Given the description of an element on the screen output the (x, y) to click on. 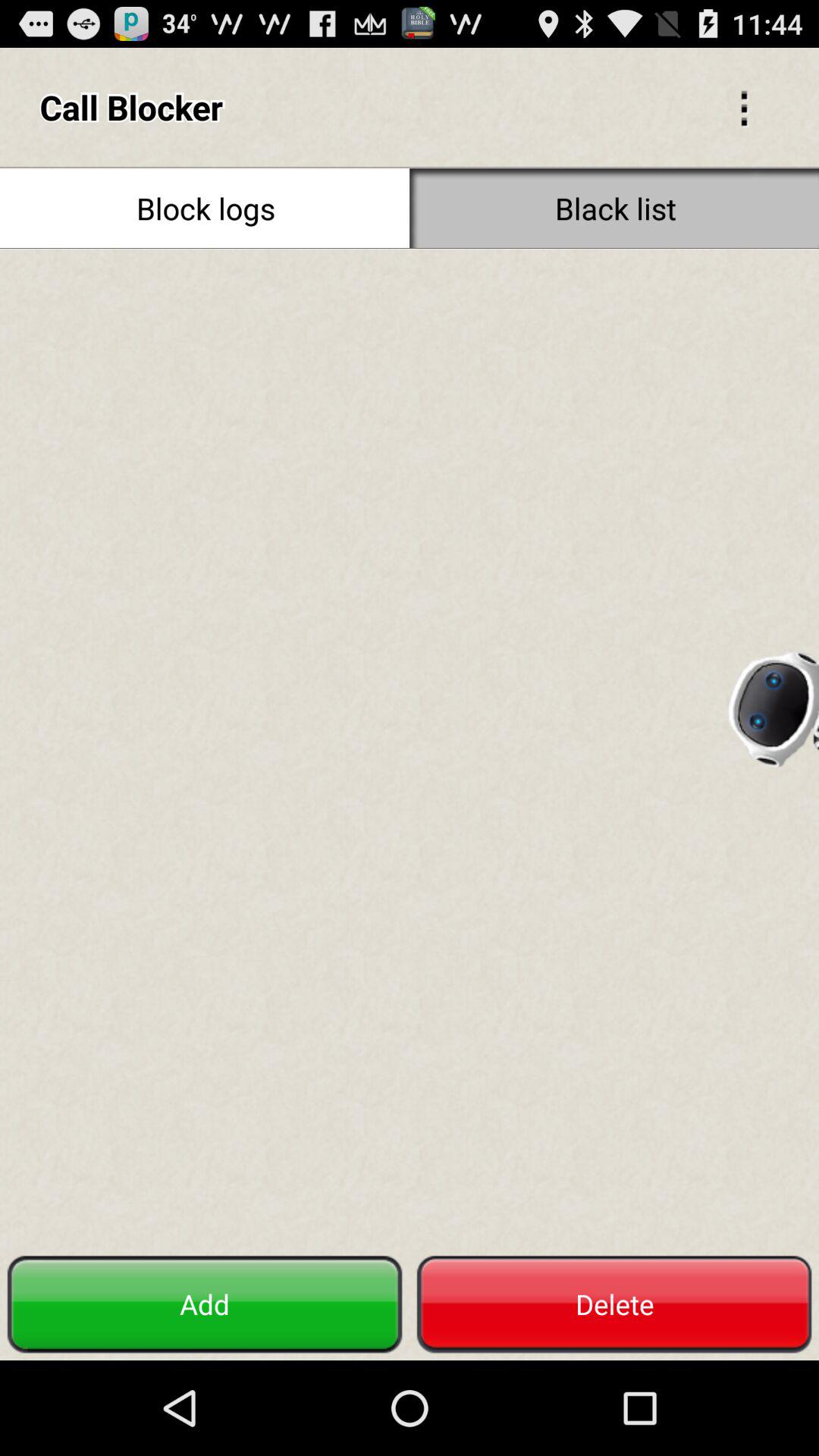
home page (409, 748)
